Given the description of an element on the screen output the (x, y) to click on. 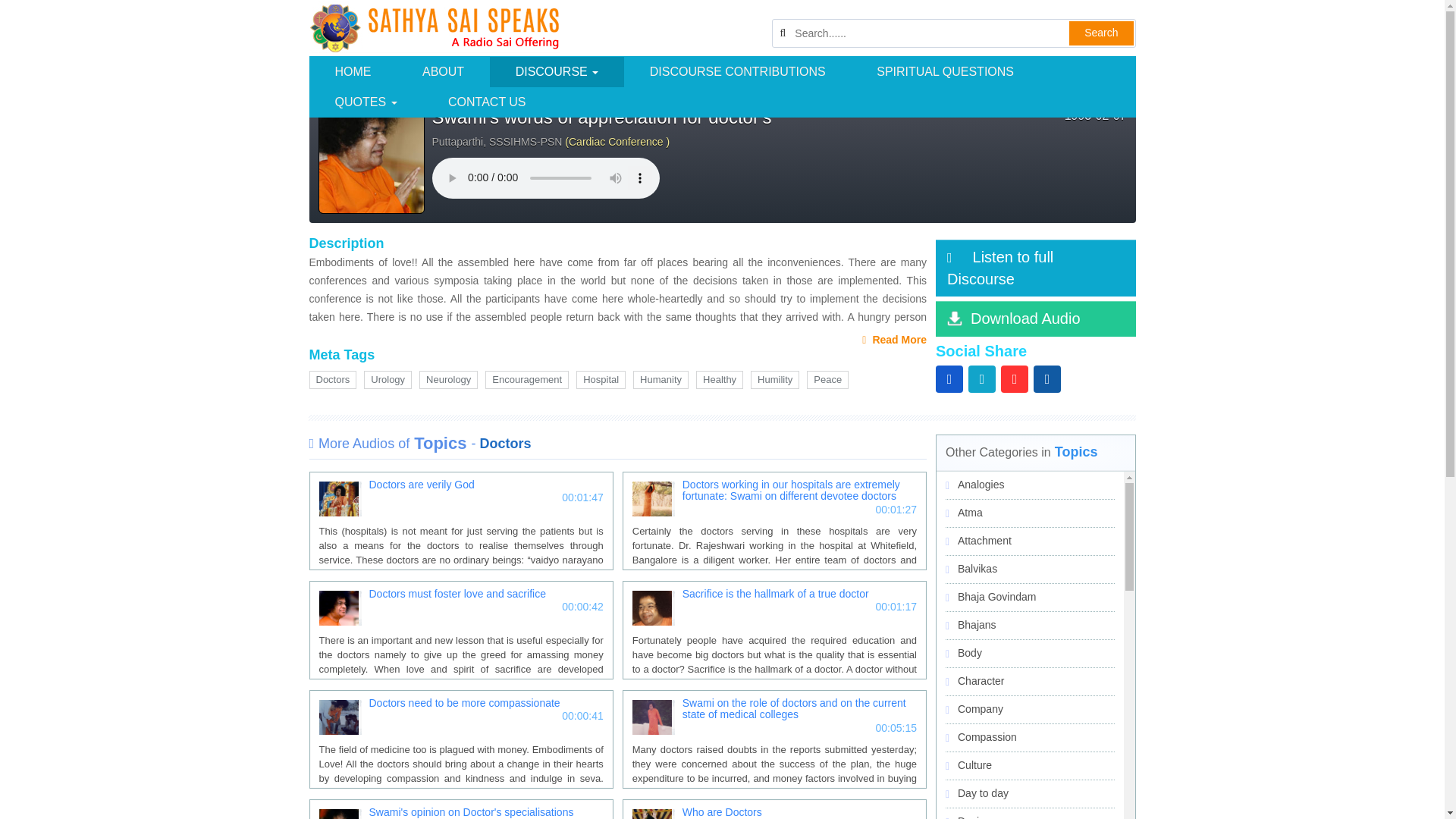
Sacrifice is the hallmark of a true doctor (774, 595)
Download Audio (1035, 318)
Humanity (660, 380)
QUOTES (365, 101)
DISCOURSE (556, 71)
Listen to full Discourse (1035, 267)
Hospital (601, 380)
Search (1100, 33)
Doctors (332, 380)
